Given the description of an element on the screen output the (x, y) to click on. 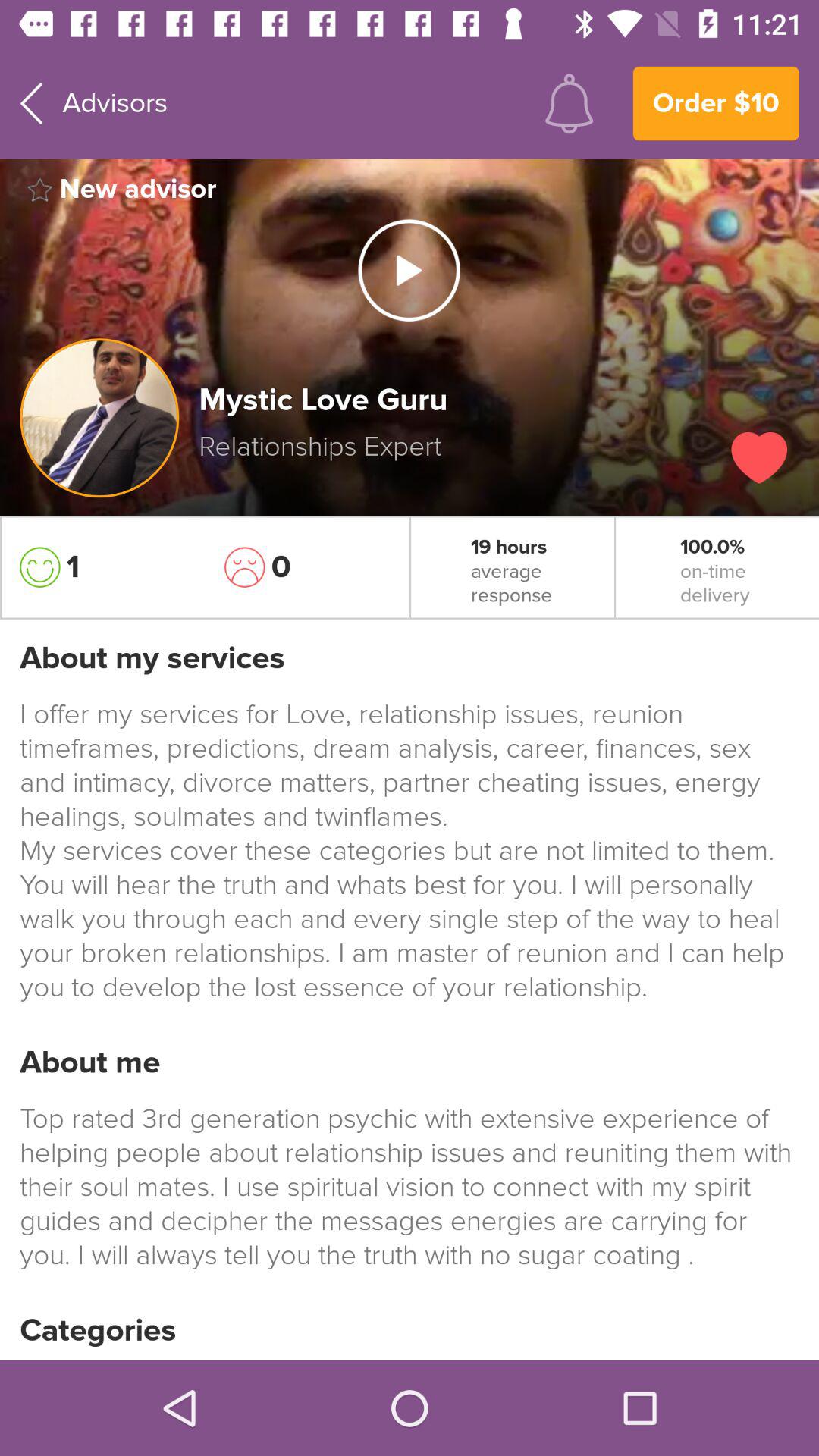
select the icon next to advisors item (569, 103)
